Given the description of an element on the screen output the (x, y) to click on. 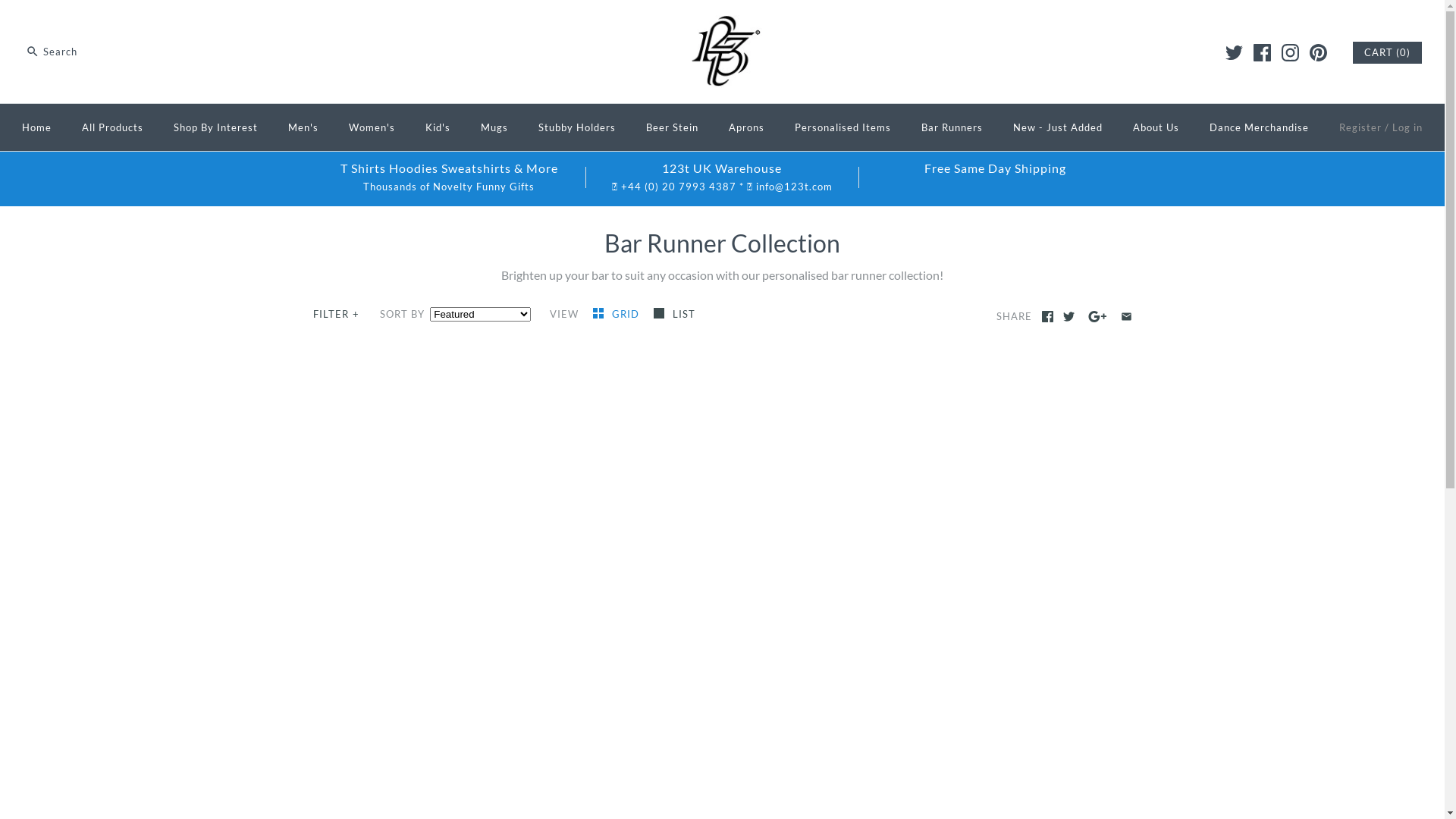
GooglePlus Element type: text (1097, 316)
Pinterest Element type: text (1318, 52)
Dance Merchandise Element type: text (1258, 127)
Facebook Element type: text (1047, 316)
Add to Cart Element type: text (871, 725)
Home Element type: text (36, 127)
Shop By Interest Element type: text (215, 127)
Beer Stein Element type: text (672, 127)
Twitter Element type: text (1233, 52)
GRID Element type: text (617, 313)
Log in Element type: text (1407, 127)
New - Just Added Element type: text (1057, 127)
All Products Element type: text (112, 127)
Mugs Element type: text (494, 127)
Women's Element type: text (371, 127)
Add to Cart Element type: text (871, 794)
Instagram Element type: text (1290, 52)
Men's Element type: text (303, 127)
Facebook Element type: text (1261, 52)
Personalised Items Element type: text (842, 127)
Aprons Element type: text (746, 127)
About Us Element type: text (1155, 127)
123t UK - T-Shirts & Hoodies Element type: hover (722, 24)
CART (0) Element type: text (1386, 52)
Email Element type: text (1126, 316)
LIST Element type: text (674, 313)
Stubby Holders Element type: text (576, 127)
Kid's Element type: text (437, 127)
Bar Runners Element type: text (951, 127)
FILTER + Element type: text (336, 314)
Register Element type: text (1360, 127)
Twitter Element type: text (1068, 316)
